Given the description of an element on the screen output the (x, y) to click on. 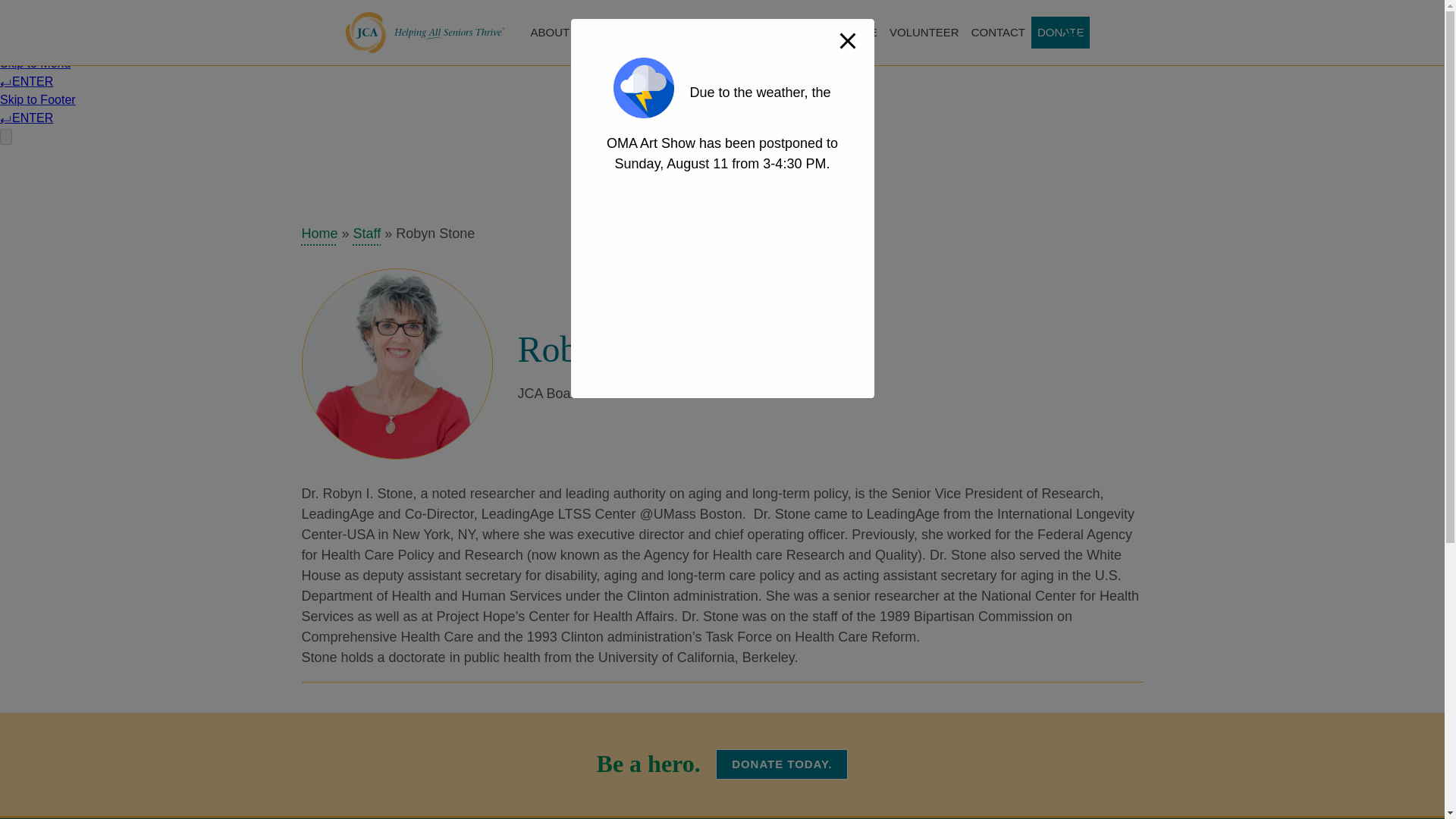
PROGRAMS (614, 32)
ABOUT (550, 32)
Search for: (1081, 30)
